Given the description of an element on the screen output the (x, y) to click on. 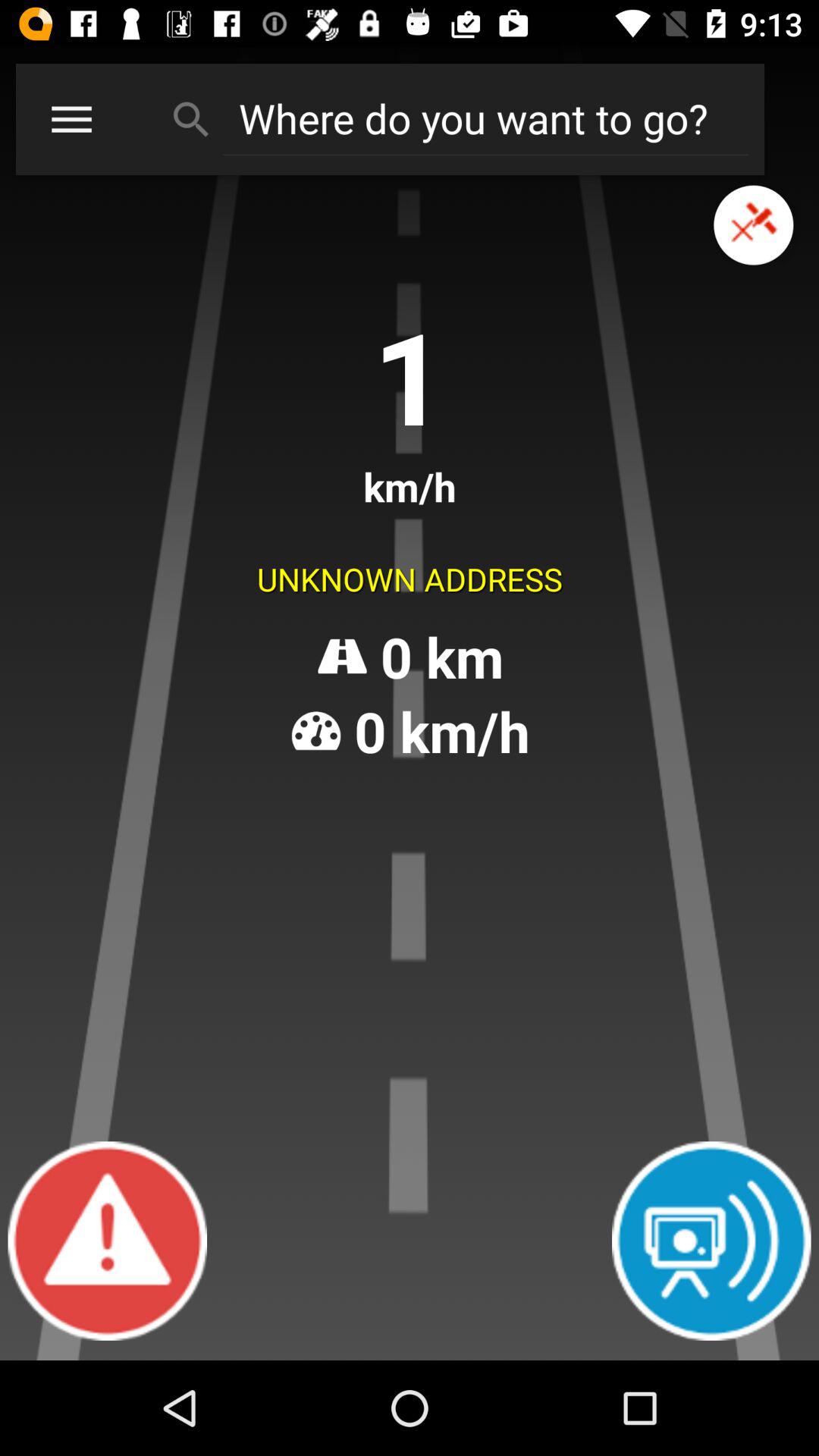
toggle (753, 225)
